Given the description of an element on the screen output the (x, y) to click on. 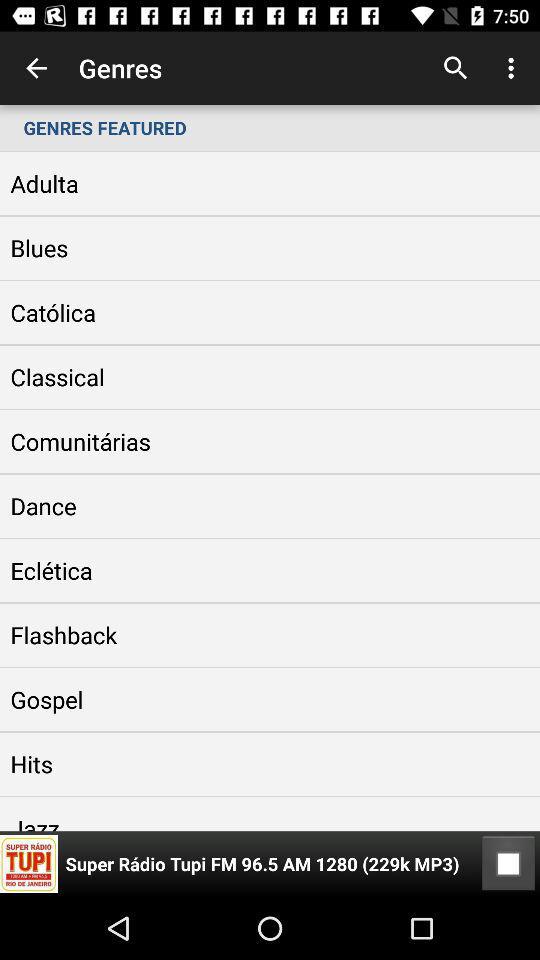
launch the app next to genres item (455, 67)
